Given the description of an element on the screen output the (x, y) to click on. 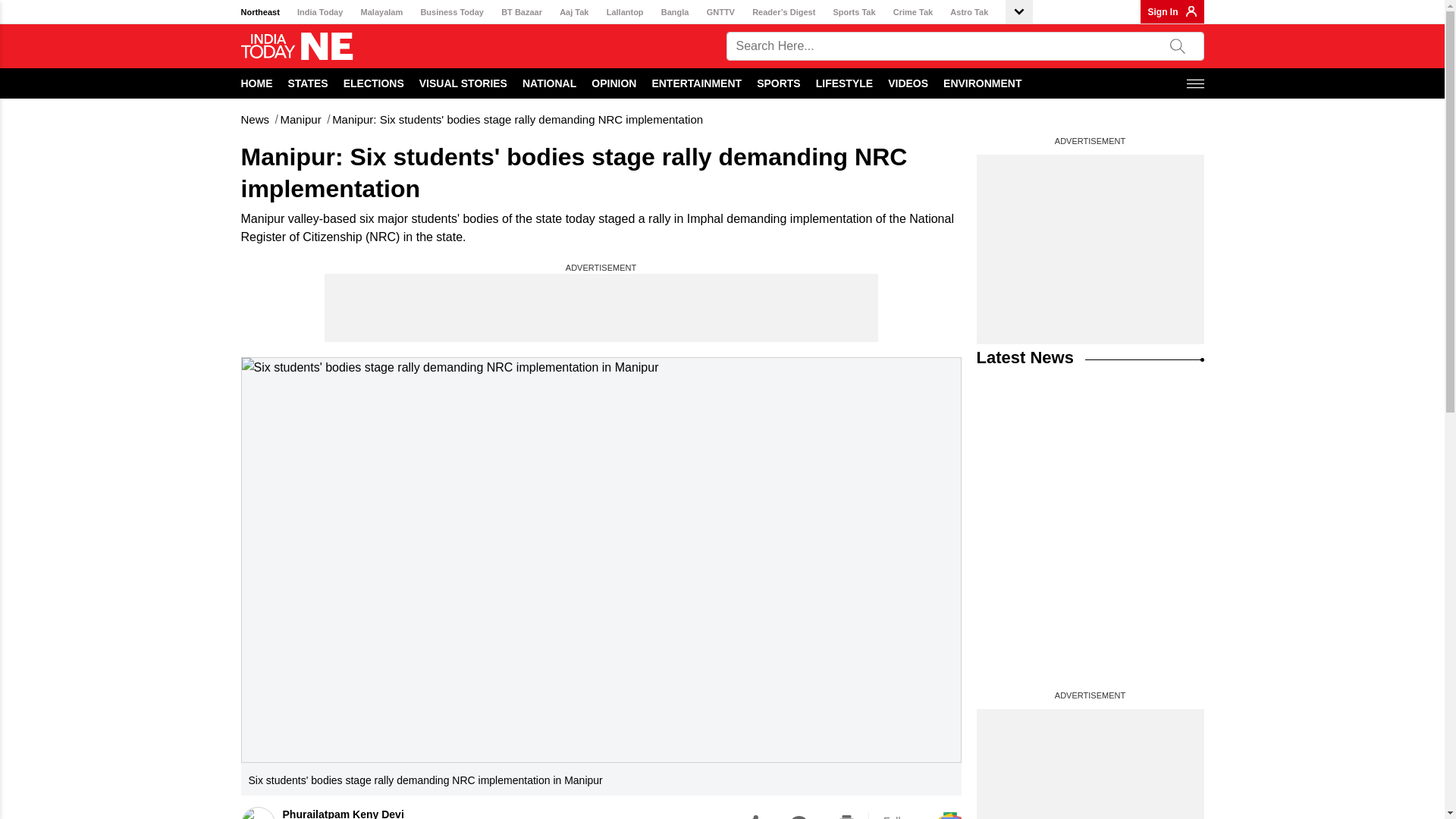
OPINION (613, 82)
Crime Tak (913, 12)
Business Today (451, 12)
BT Bazaar (520, 12)
Crime Tak (913, 12)
Northeast (260, 12)
ELECTIONS (373, 82)
Sign In (1162, 11)
ENTERTAINMENT (695, 82)
GNTTV (720, 12)
STATES (308, 82)
VISUAL STORIES (462, 82)
Northeast (260, 12)
Sports Tak (854, 12)
Lallantop (625, 12)
